Given the description of an element on the screen output the (x, y) to click on. 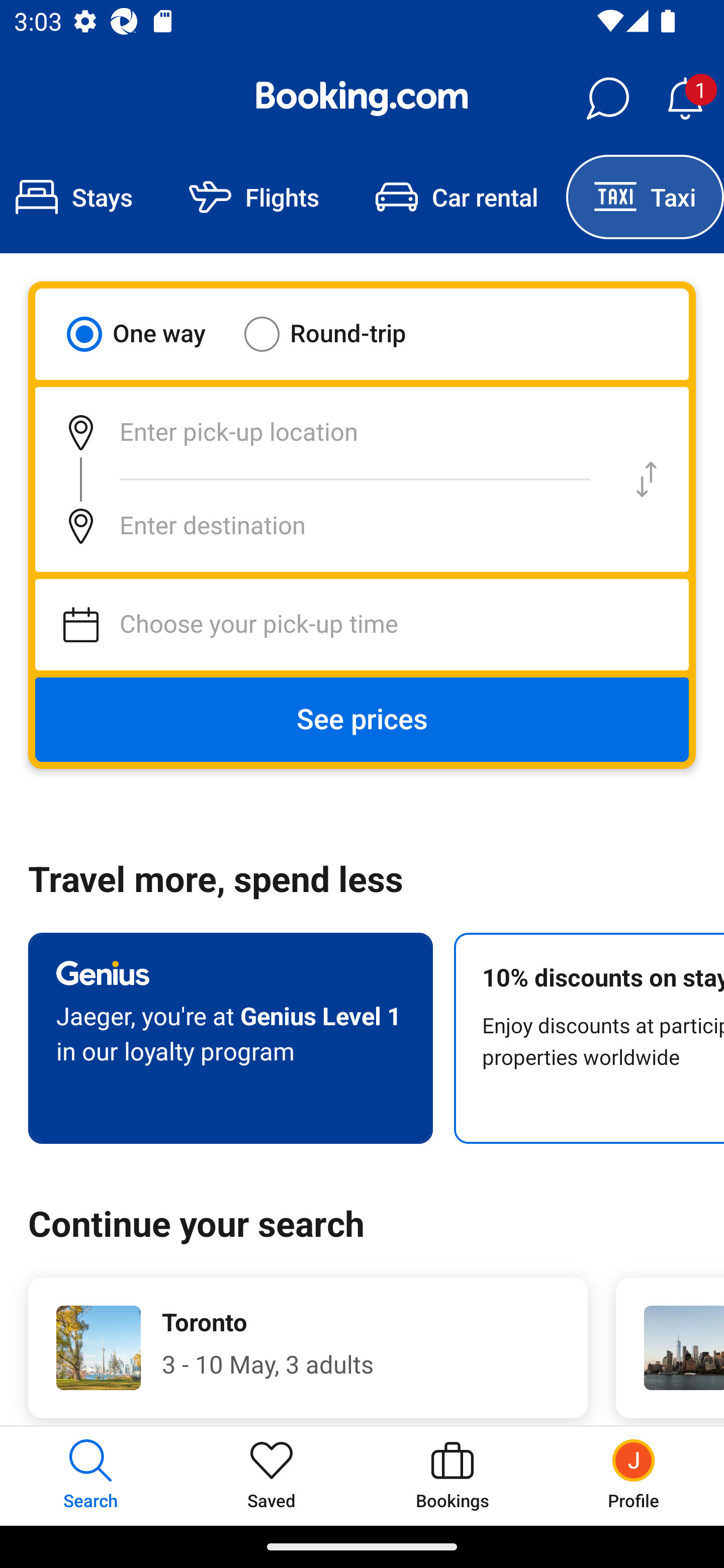
Messages (607, 98)
Notifications (685, 98)
Stays (80, 197)
Flights (253, 197)
Car rental (456, 197)
Taxi (645, 197)
Round-trip (337, 333)
Enter pick-up location (319, 432)
Swap pick-up location and destination (646, 479)
Enter destination (319, 525)
Choose your pick-up time (361, 624)
See prices (361, 719)
Toronto 3 - 10 May, 3 adults (307, 1347)
Saved (271, 1475)
Bookings (452, 1475)
Profile (633, 1475)
